Given the description of an element on the screen output the (x, y) to click on. 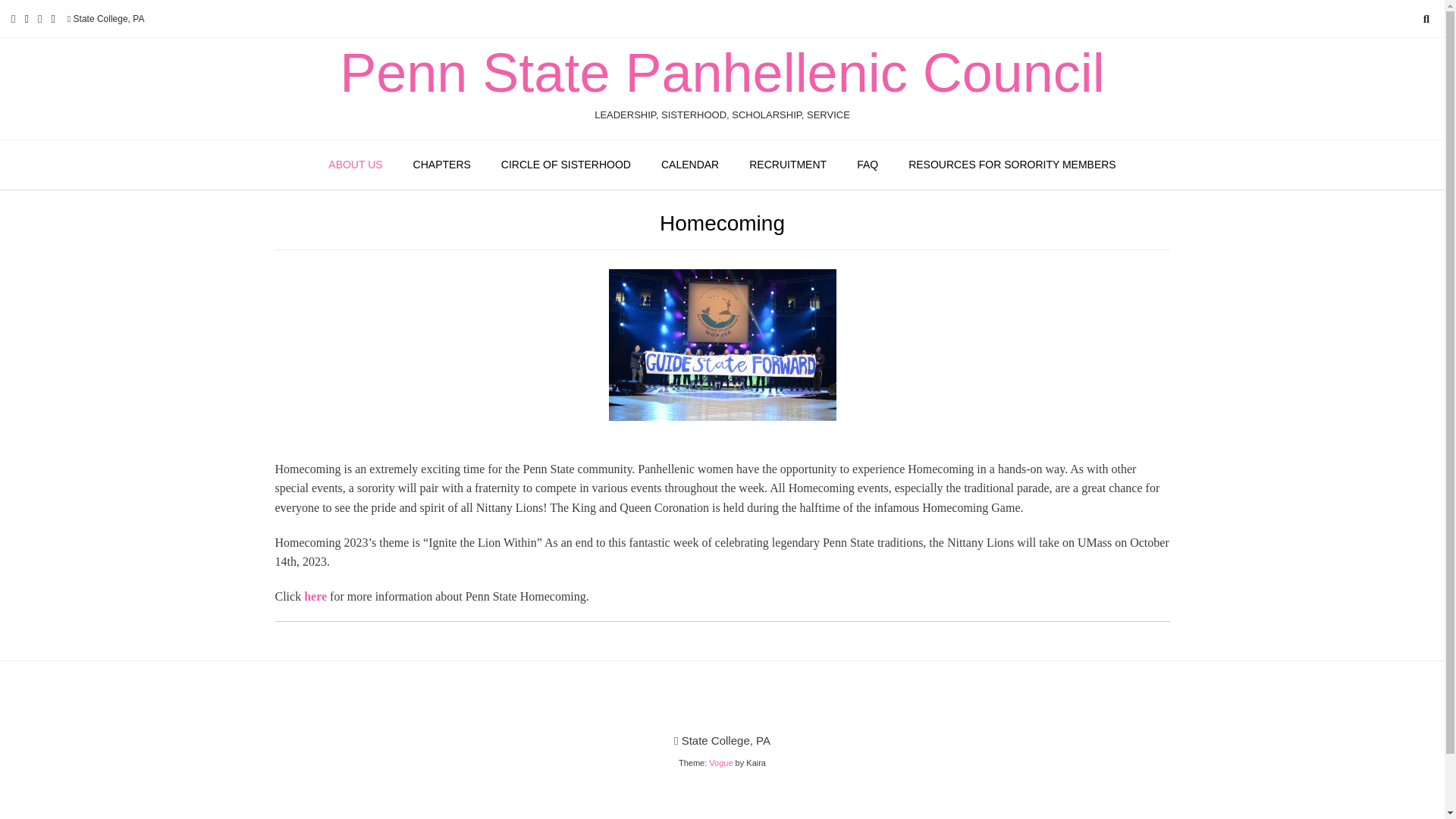
Penn State Panhellenic Council (722, 72)
Penn State Panhellenic Council (722, 72)
RECRUITMENT (787, 165)
CALENDAR (689, 165)
CHAPTERS (441, 165)
CIRCLE OF SISTERHOOD (566, 165)
ABOUT US (355, 165)
